Given the description of an element on the screen output the (x, y) to click on. 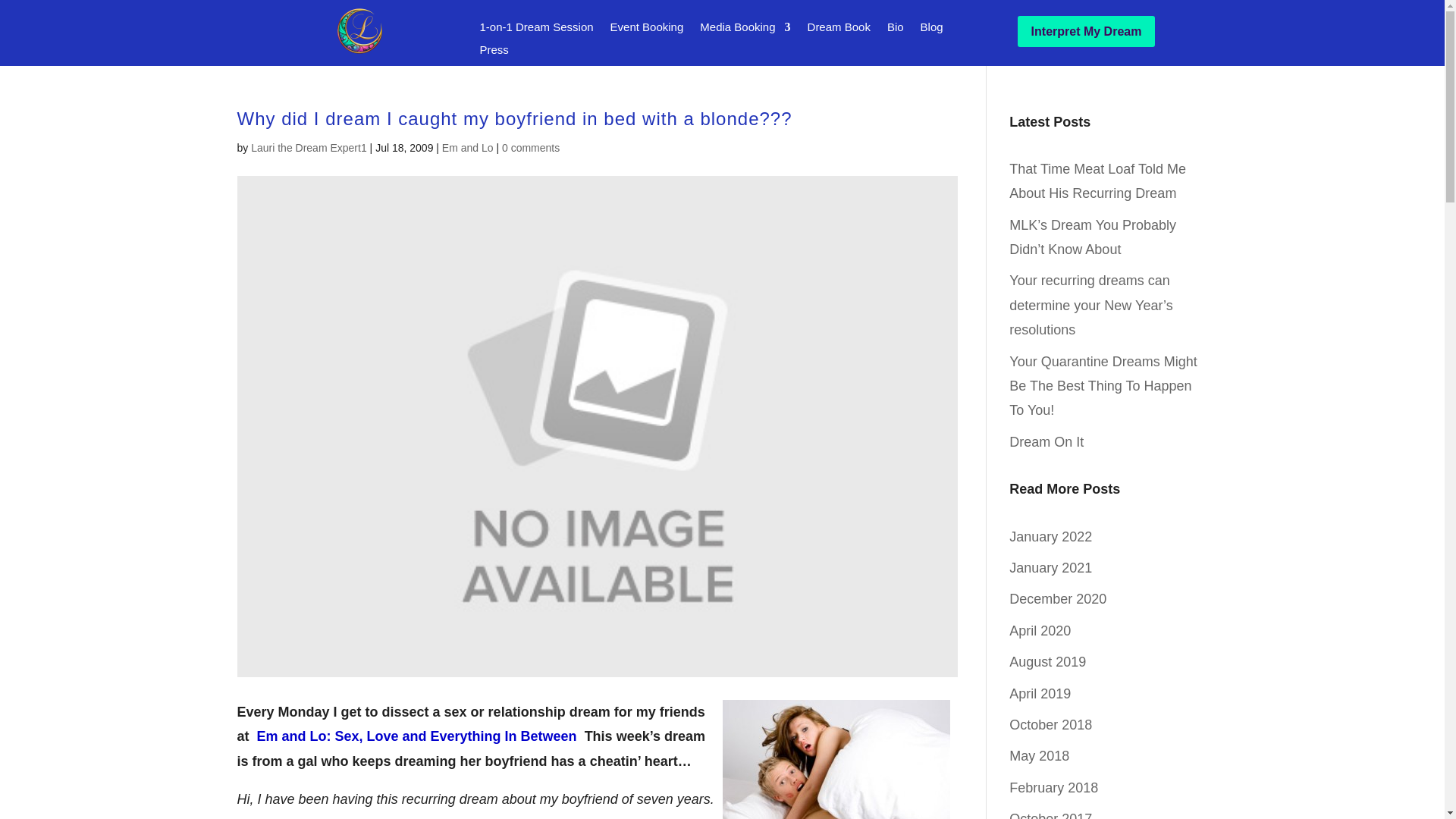
Event Booking (647, 30)
Bio (895, 30)
Interpret My Dream (1086, 30)
Press (493, 53)
cropped-Dream-Site-Logo.png (357, 29)
Blog (931, 30)
1-on-1 Dream Session (535, 30)
Posts by Lauri the Dream Expert1 (308, 146)
Dream Book (839, 30)
Media Booking (745, 30)
